Given the description of an element on the screen output the (x, y) to click on. 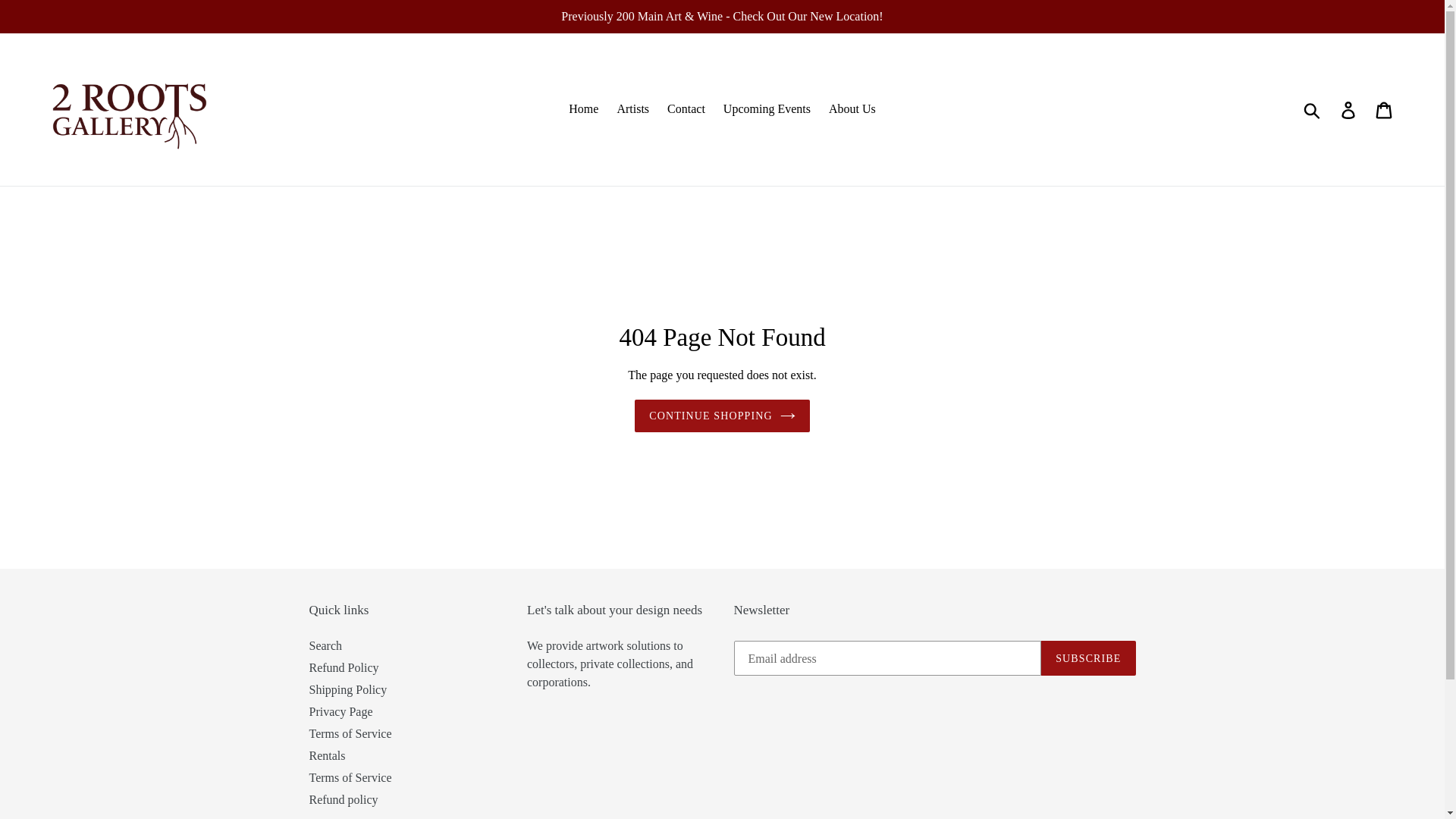
Refund policy Element type: text (343, 799)
Shipping Policy Element type: text (348, 688)
Log in Element type: text (1349, 109)
Terms of Service Element type: text (350, 776)
Privacy Page Element type: text (341, 711)
Cart Element type: text (1384, 109)
Home Element type: text (583, 108)
Contact Element type: text (685, 108)
SUBSCRIBE Element type: text (1088, 657)
Submit Element type: text (1312, 108)
Refund Policy Element type: text (344, 667)
Upcoming Events Element type: text (766, 108)
About Us Element type: text (852, 108)
Terms of Service Element type: text (350, 732)
CONTINUE SHOPPING Element type: text (721, 414)
Artists Element type: text (632, 108)
Rentals Element type: text (327, 755)
Search Element type: text (325, 644)
